Given the description of an element on the screen output the (x, y) to click on. 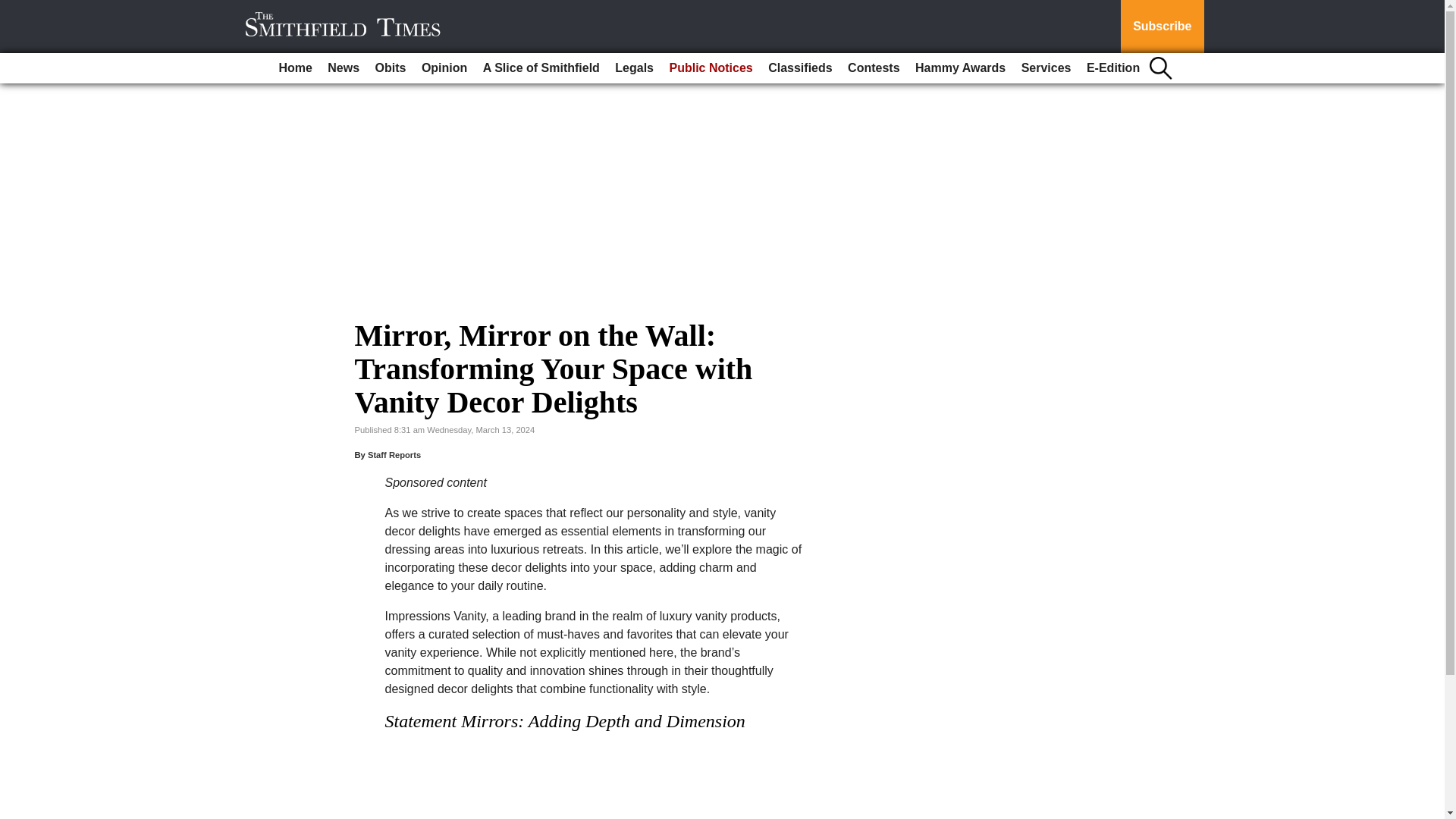
A Slice of Smithfield (541, 68)
Public Notices (710, 68)
Classifieds (799, 68)
Home (294, 68)
Legals (633, 68)
Obits (390, 68)
News (343, 68)
Subscribe (1162, 26)
Go (13, 9)
Opinion (443, 68)
